Given the description of an element on the screen output the (x, y) to click on. 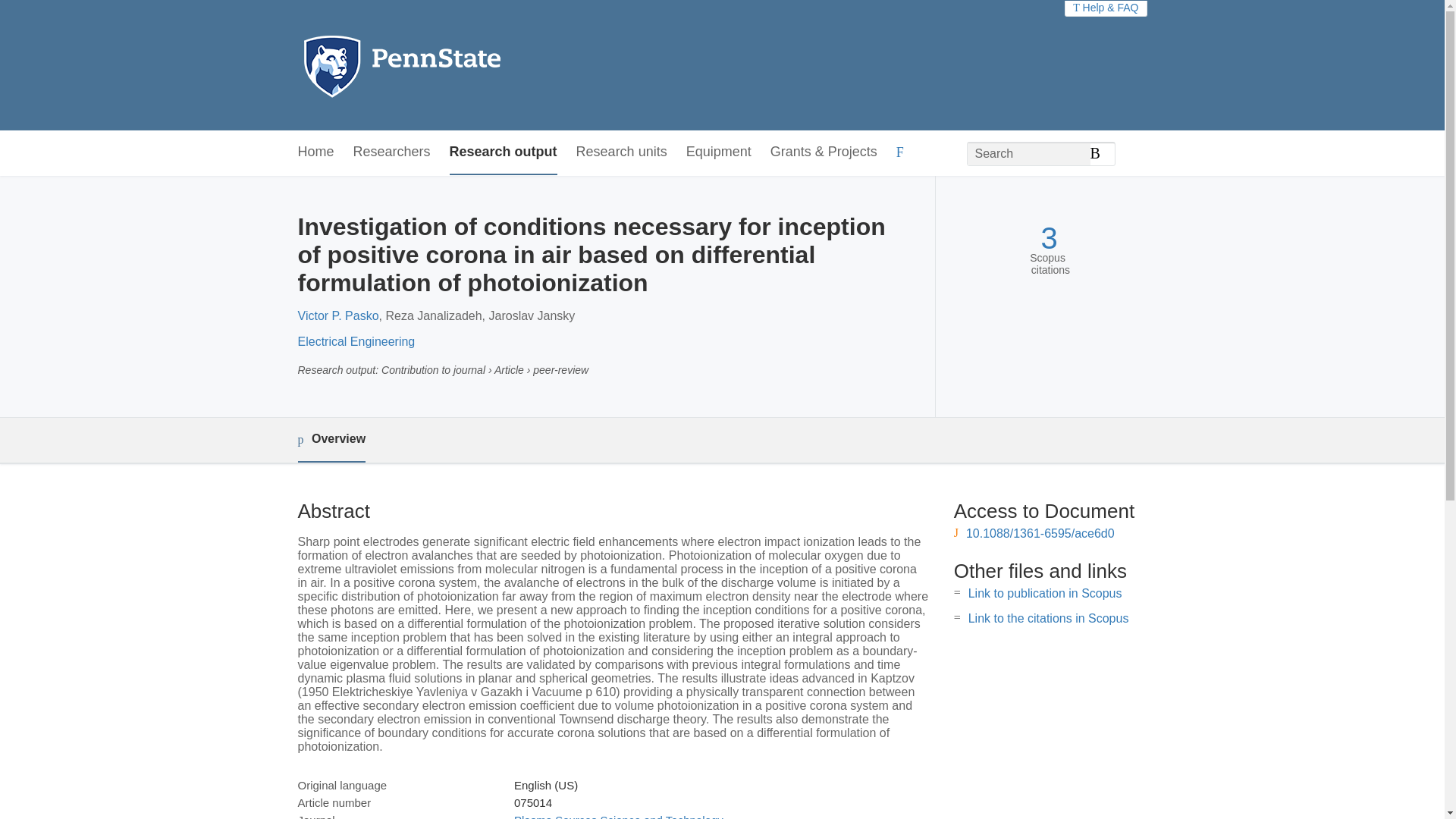
Researchers (391, 152)
Plasma Sources Science and Technology (618, 816)
Victor P. Pasko (337, 315)
Electrical Engineering (355, 341)
Overview (331, 439)
Penn State Home (467, 65)
Research units (621, 152)
Equipment (718, 152)
Link to the citations in Scopus (1048, 617)
